Given the description of an element on the screen output the (x, y) to click on. 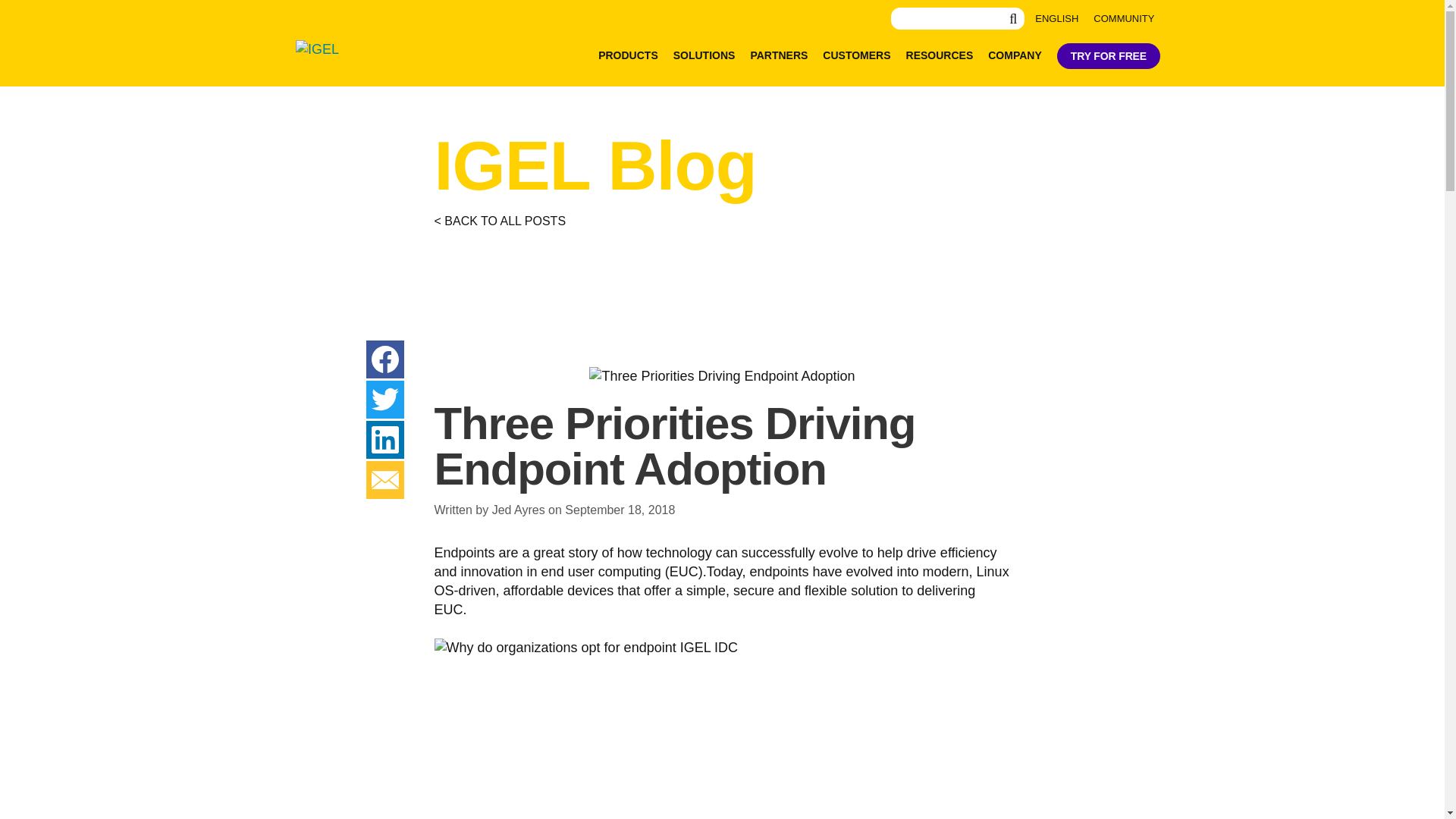
ENGLISH (1056, 18)
COMMUNITY (1123, 18)
English (1056, 18)
